Given the description of an element on the screen output the (x, y) to click on. 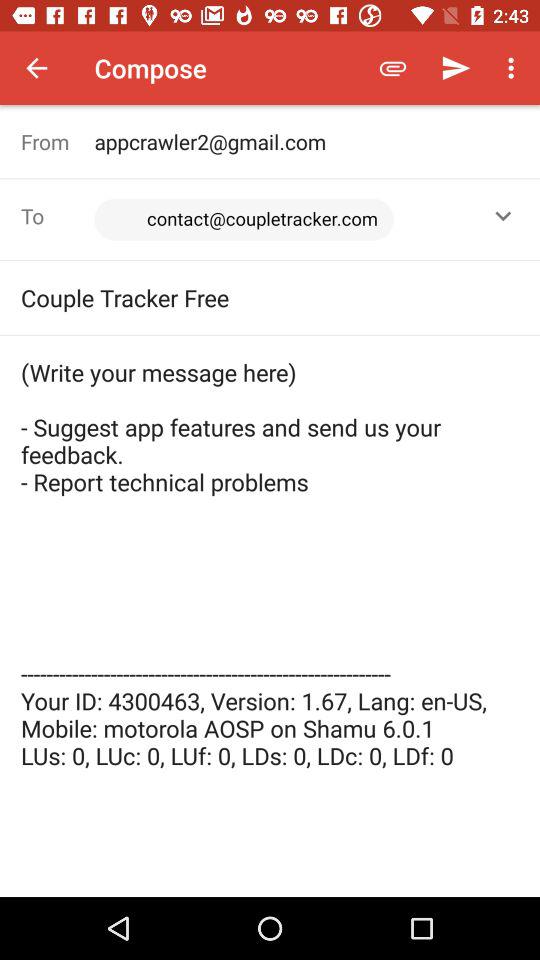
launch icon to the left of <contact@coupletracker.com>,  icon (57, 215)
